Given the description of an element on the screen output the (x, y) to click on. 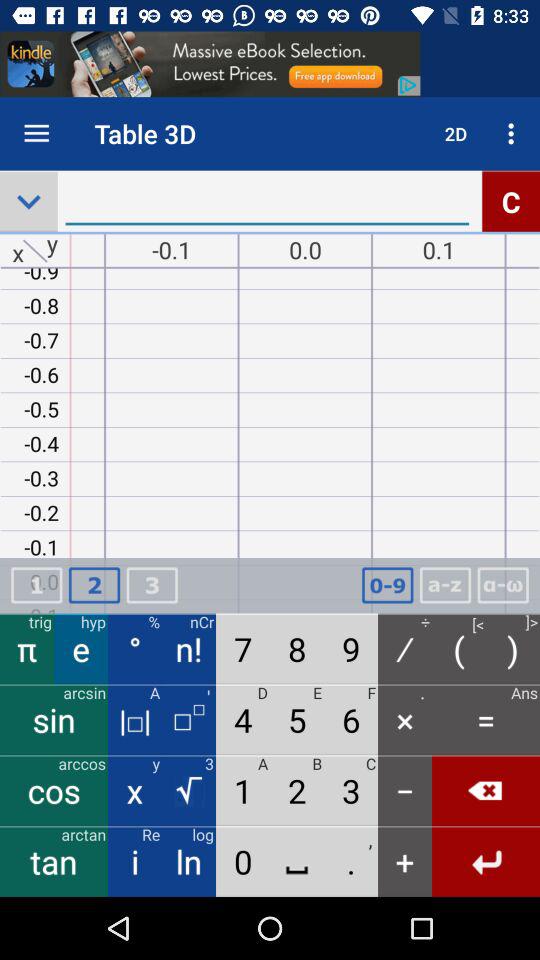
click on the alphabet c (511, 201)
move to text aw (502, 585)
click digit above pie  (36, 585)
select the number which is above the letter e (94, 585)
click on text 09 (387, 585)
select the text az (445, 585)
